Given the description of an element on the screen output the (x, y) to click on. 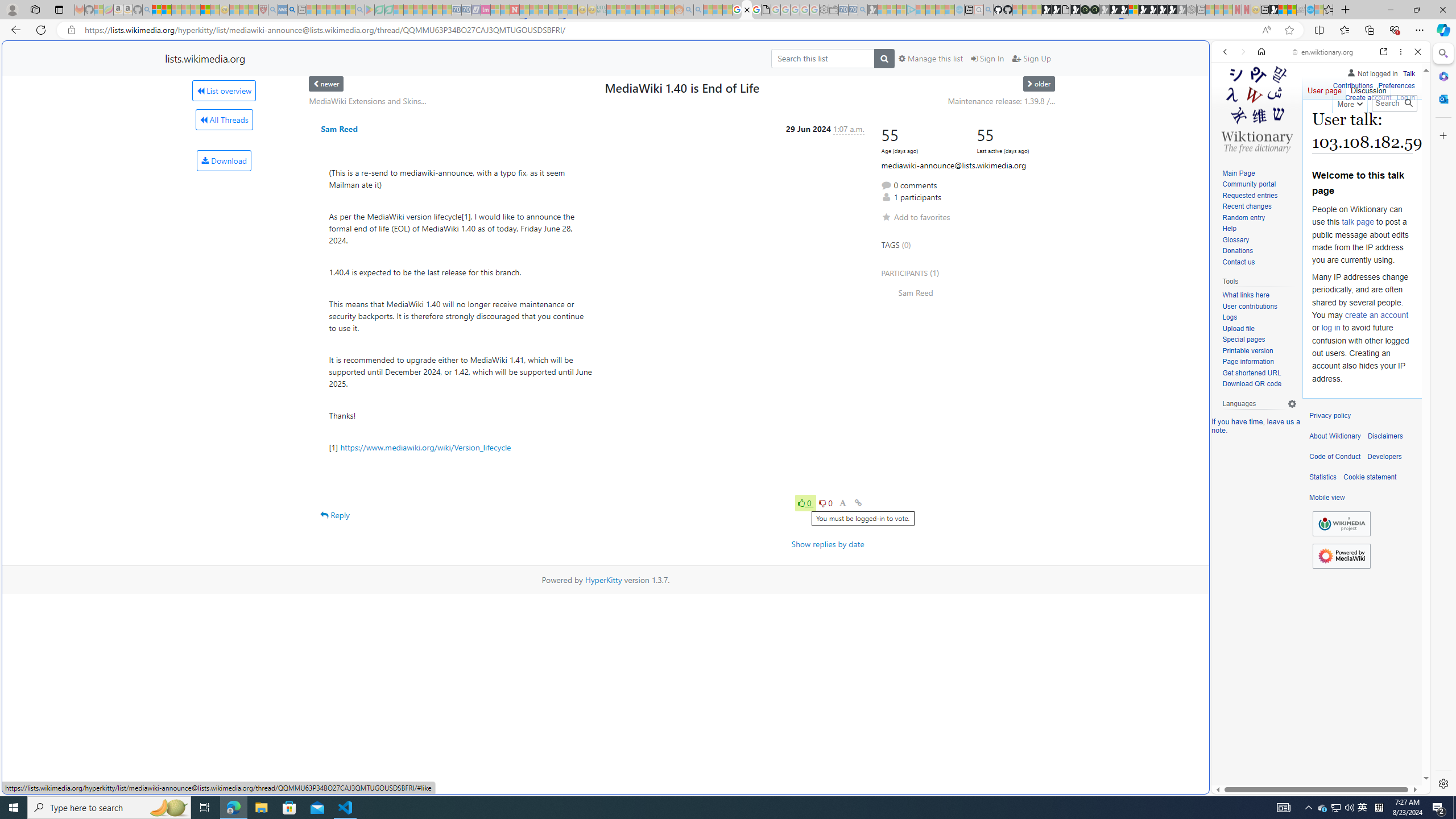
Download QR code (1259, 383)
User contributions (1259, 306)
Discussion (1367, 87)
Disclaimers (1385, 436)
Statistics (1322, 477)
Talk (1408, 73)
